Given the description of an element on the screen output the (x, y) to click on. 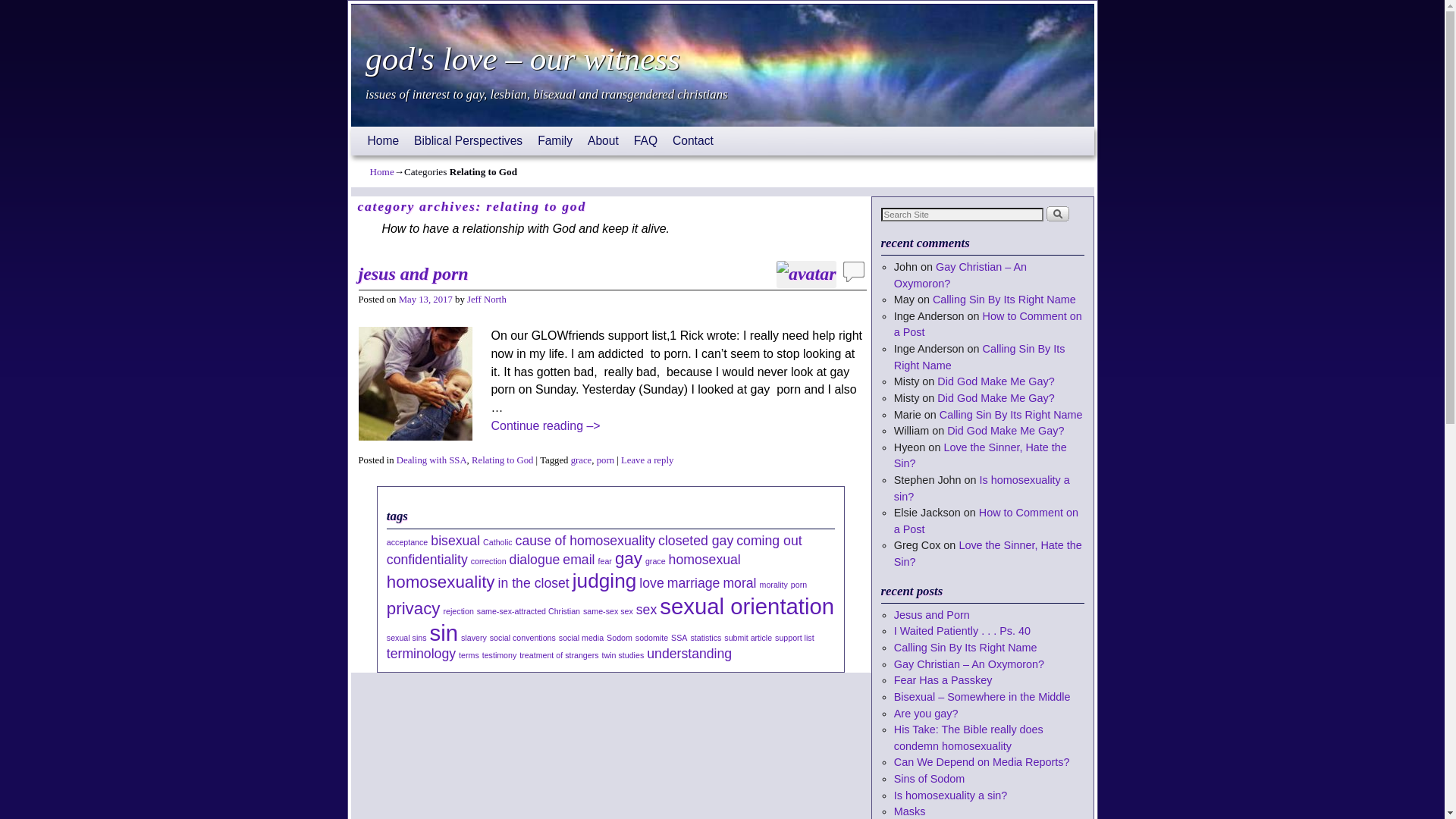
morality Element type: text (773, 584)
terminology Element type: text (420, 653)
in the closet Element type: text (533, 582)
privacy Element type: text (413, 608)
same-sex sex Element type: text (608, 610)
sin Element type: text (443, 632)
Can We Depend on Media Reports? Element type: text (982, 762)
grace Element type: text (655, 560)
SSA Element type: text (679, 637)
sexual orientation Element type: text (746, 605)
slavery Element type: text (473, 637)
Jeff North Element type: text (486, 299)
gay Element type: text (628, 558)
Calling Sin By Its Right Name Element type: text (979, 356)
Biblical Perspectives Element type: text (468, 140)
Home Element type: text (382, 171)
Masks Element type: text (909, 811)
Leave a reply Element type: text (647, 460)
statistics Element type: text (705, 637)
testimony Element type: text (499, 654)
submit article Element type: text (747, 637)
email Element type: text (578, 559)
sodomite Element type: text (651, 637)
treatment of strangers Element type: text (558, 654)
Relating to God Element type: text (502, 460)
judging Element type: text (604, 580)
acceptance Element type: text (407, 541)
Sodom Element type: text (619, 637)
understanding Element type: text (688, 653)
His Take: The Bible really does condemn homosexuality Element type: text (968, 737)
closeted gay Element type: text (695, 540)
dialogue Element type: text (534, 559)
marriage Element type: text (693, 582)
love Element type: text (651, 582)
Love the Sinner, Hate the Sin? Element type: text (980, 455)
sexual sins Element type: text (406, 637)
bisexual Element type: text (455, 540)
fear Element type: text (604, 560)
confidentiality Element type: text (426, 559)
Jesus and Porn Element type: text (931, 614)
social conventions Element type: text (522, 637)
rejection Element type: text (458, 610)
Did God Make Me Gay? Element type: text (1005, 430)
moral Element type: text (739, 582)
same-sex-attracted Christian Element type: text (528, 610)
Is homosexuality a sin? Element type: text (982, 487)
homosexuality Element type: text (440, 581)
Is homosexuality a sin? Element type: text (950, 795)
grace Element type: text (581, 460)
jesus and porn Element type: text (412, 273)
porn Element type: text (798, 584)
About Element type: text (603, 140)
How to Comment on a Post Element type: text (988, 324)
Skip to secondary content Element type: text (402, 133)
Home Element type: text (382, 140)
terms Element type: text (468, 654)
Are you gay? Element type: text (926, 713)
social media Element type: text (580, 637)
Dealing with SSA Element type: text (431, 460)
FAQ Element type: text (645, 140)
Did God Make Me Gay? Element type: text (995, 398)
cause of homosexuality Element type: text (585, 540)
twin studies Element type: text (623, 654)
Fear Has a Passkey Element type: text (943, 680)
homosexual Element type: text (704, 559)
Contact Element type: text (693, 140)
coming out Element type: text (768, 540)
sex Element type: text (646, 609)
Did God Make Me Gay? Element type: text (995, 381)
support list Element type: text (794, 637)
How to Comment on a Post Element type: text (986, 520)
Calling Sin By Its Right Name Element type: text (965, 647)
Skip to primary content Element type: text (396, 133)
correction Element type: text (488, 560)
May 13, 2017 Element type: text (425, 299)
Calling Sin By Its Right Name Element type: text (1010, 413)
Catholic Element type: text (497, 541)
porn Element type: text (605, 460)
Calling Sin By Its Right Name Element type: text (1004, 299)
Love the Sinner, Hate the Sin? Element type: text (988, 553)
I Waited Patiently . . . Ps. 40 Element type: text (962, 630)
Family Element type: text (555, 140)
Sins of Sodom Element type: text (929, 778)
